Given the description of an element on the screen output the (x, y) to click on. 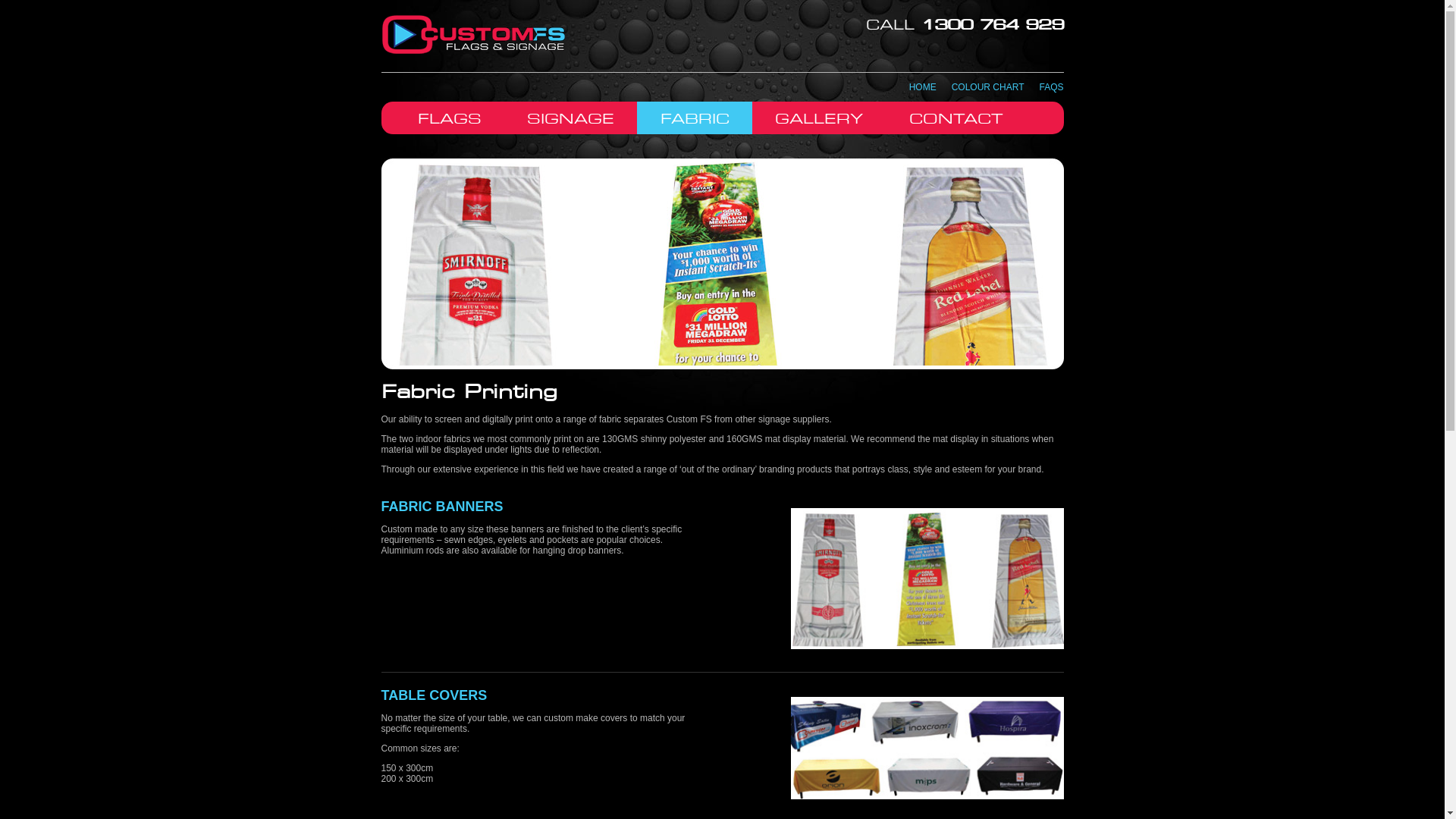
CALL 1300 764 929 Element type: text (964, 25)
CONTACT Element type: text (956, 119)
HOME Element type: text (922, 86)
FLAGS Element type: text (449, 119)
SIGNAGE Element type: text (570, 119)
COLOUR CHART Element type: text (987, 86)
GALLERY Element type: text (818, 119)
FAQS Element type: text (1050, 86)
FABRIC Element type: text (694, 119)
